Given the description of an element on the screen output the (x, y) to click on. 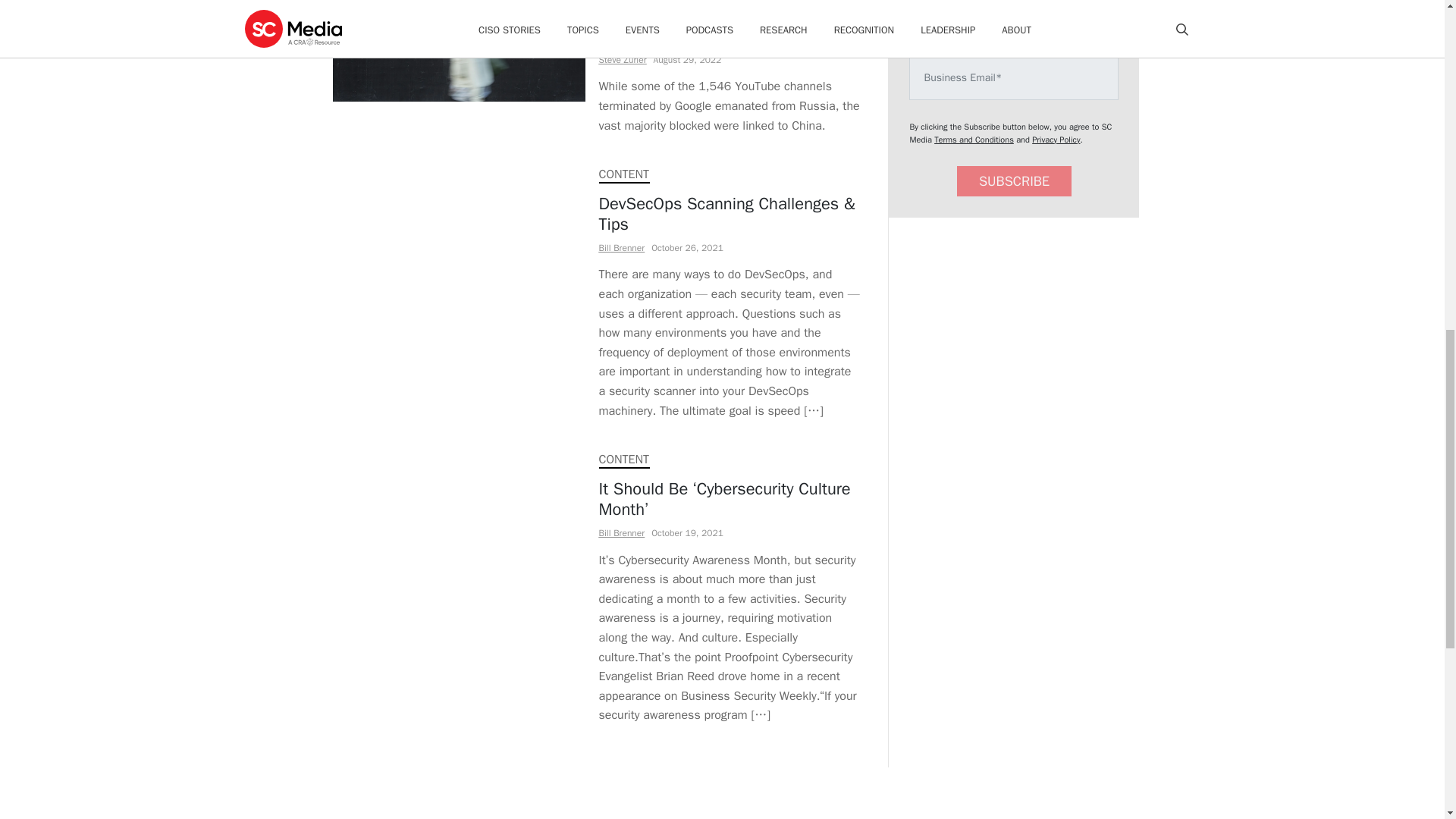
Terms and Conditions (973, 139)
Privacy Policy (1056, 139)
Bill Brenner (621, 247)
CONTENT (623, 459)
Steve Zurier (622, 60)
Bill Brenner (621, 532)
CONTENT (623, 174)
SUBSCRIBE (1013, 181)
